Given the description of an element on the screen output the (x, y) to click on. 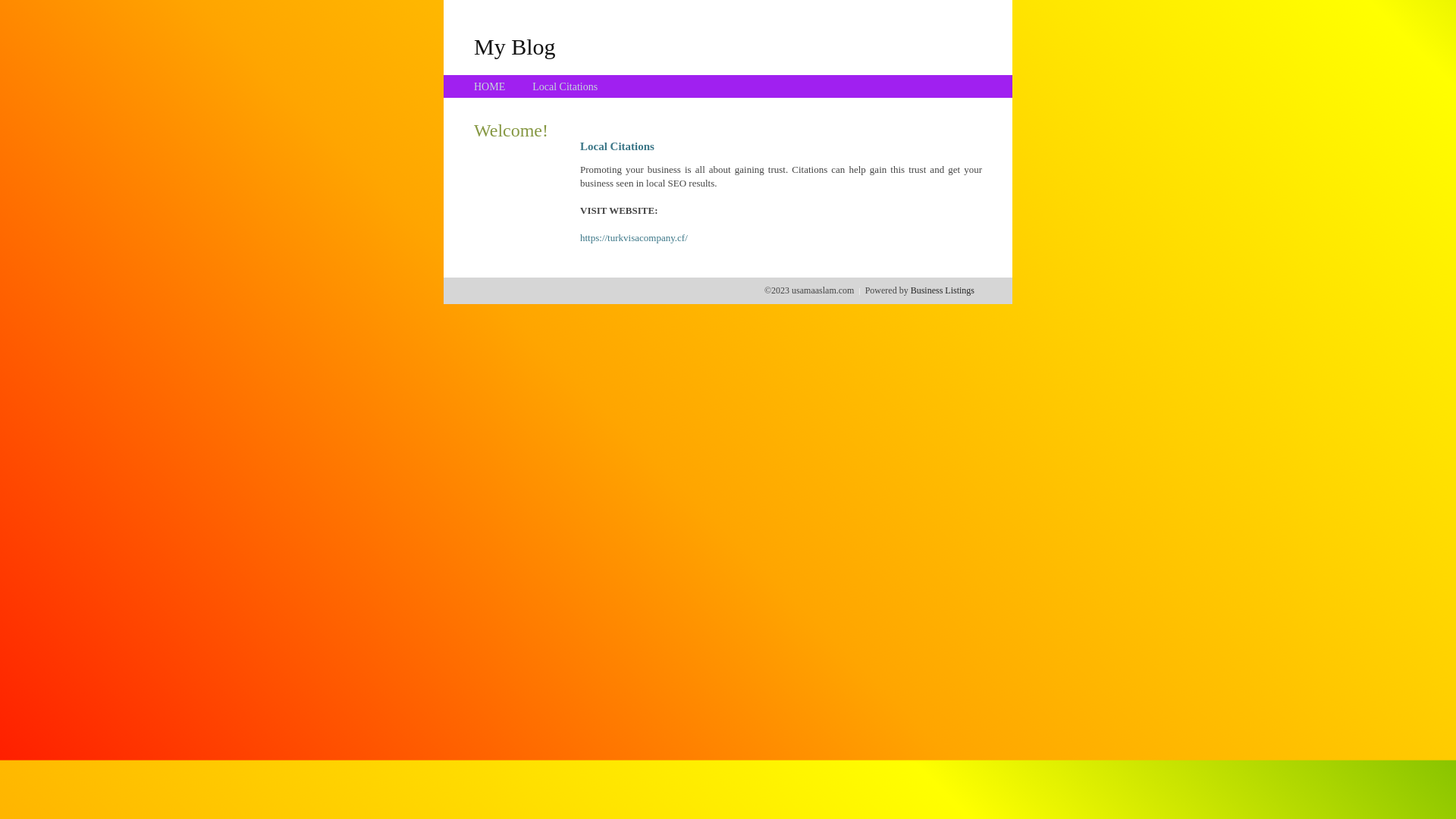
https://turkvisacompany.cf/ Element type: text (633, 237)
HOME Element type: text (489, 86)
Business Listings Element type: text (942, 290)
My Blog Element type: text (514, 46)
Local Citations Element type: text (564, 86)
